Given the description of an element on the screen output the (x, y) to click on. 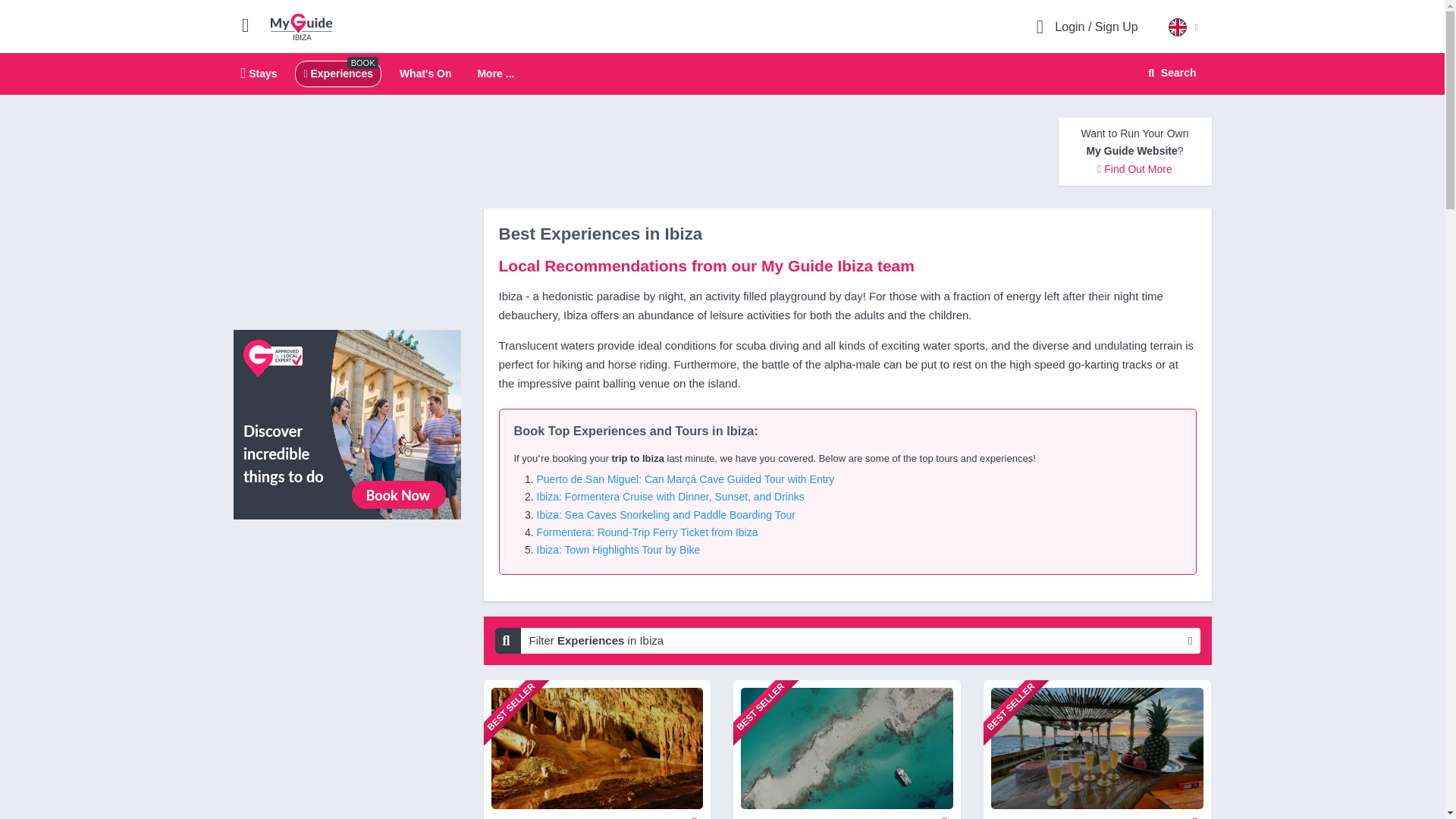
Add to My Guide (694, 814)
Add to My Guide (1195, 814)
Stays (259, 73)
What's On (424, 73)
Add to My Guide (721, 74)
Experiences (944, 814)
Toggle Menu (337, 73)
My Guide Ibiza (251, 24)
Search (300, 25)
More ... (1169, 72)
